Given the description of an element on the screen output the (x, y) to click on. 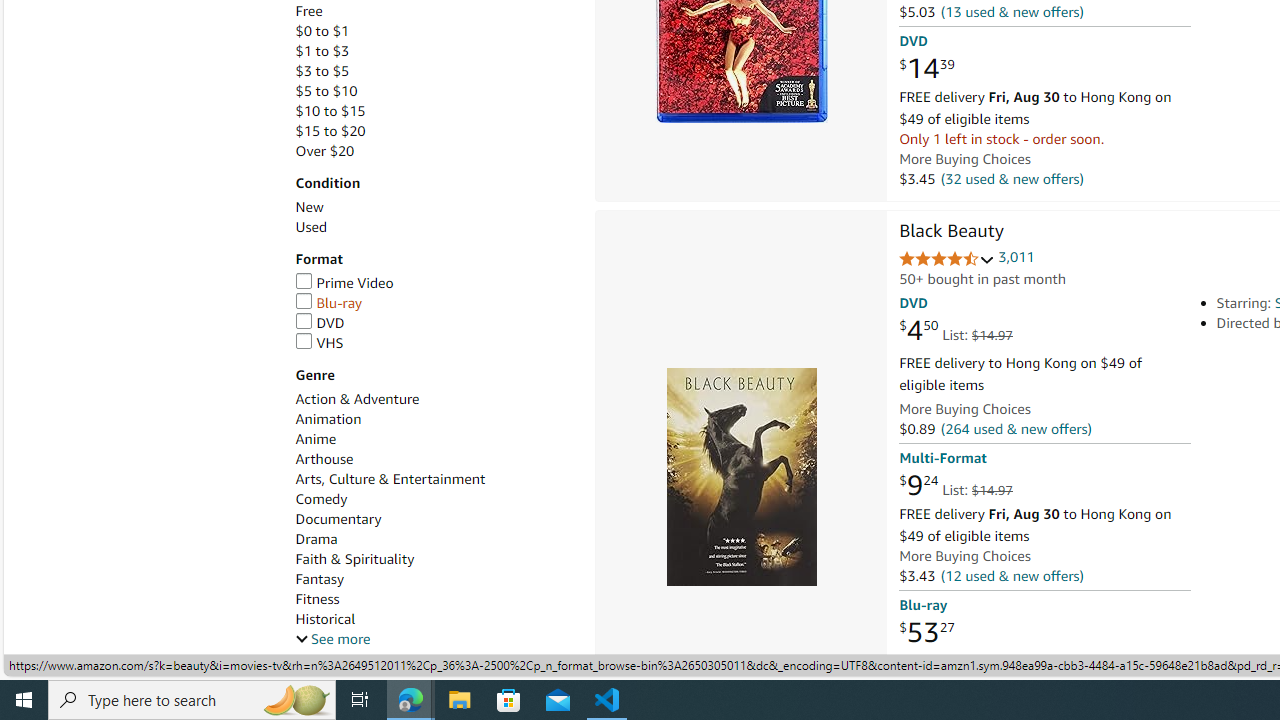
Free (434, 11)
Documentary (337, 519)
$10 to $15 (434, 111)
$5 to $10 (326, 91)
Prime Video (344, 282)
Action & Adventure (356, 399)
Black Beauty (951, 232)
New (434, 207)
Blu-ray (328, 303)
Historical (324, 619)
